Given the description of an element on the screen output the (x, y) to click on. 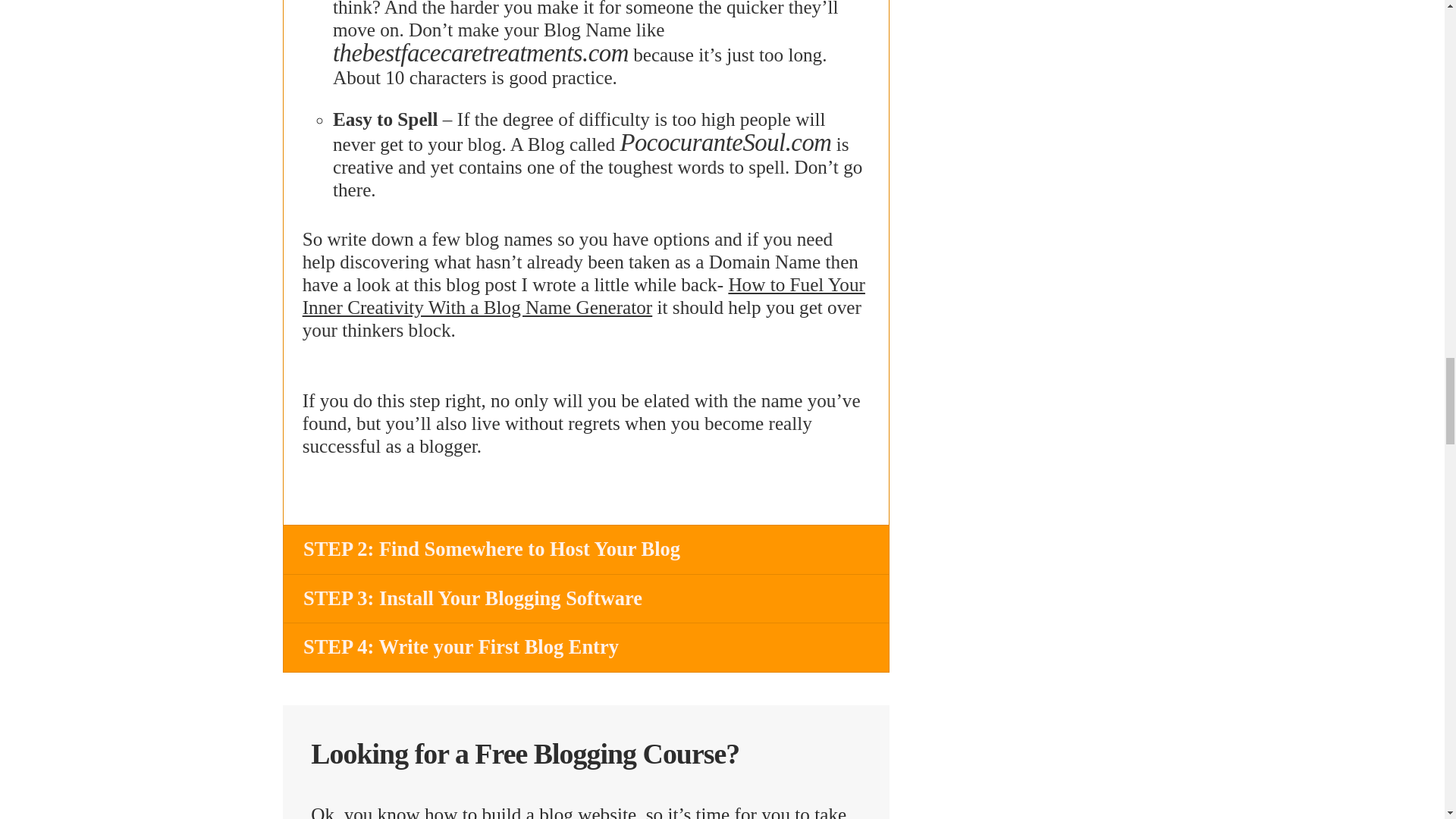
STEP 4: Write your First Blog Entry (585, 646)
STEP 2: Find Somewhere to Host Your Blog (585, 549)
STEP 3: Install Your Blogging Software (585, 598)
How to Fuel Your Inner Creativity With a Blog Name Generator (583, 295)
